Given the description of an element on the screen output the (x, y) to click on. 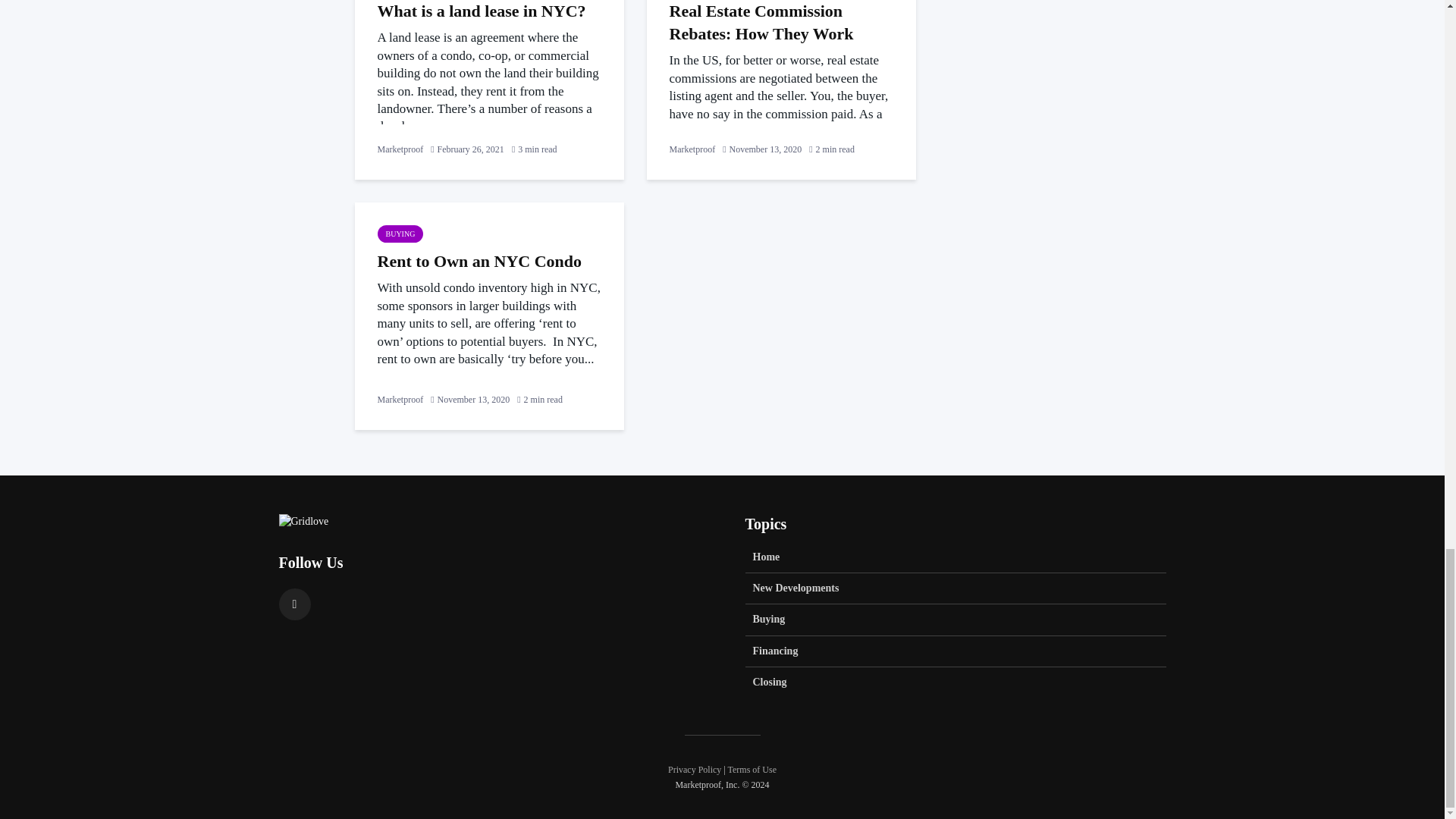
Rent to Own an NYC Condo (489, 261)
Marketproof (691, 149)
BUYING (400, 233)
Marketproof (400, 398)
What is a land lease in NYC? (489, 11)
Real Estate Commission Rebates: How They Work (780, 22)
Marketproof (400, 149)
